Given the description of an element on the screen output the (x, y) to click on. 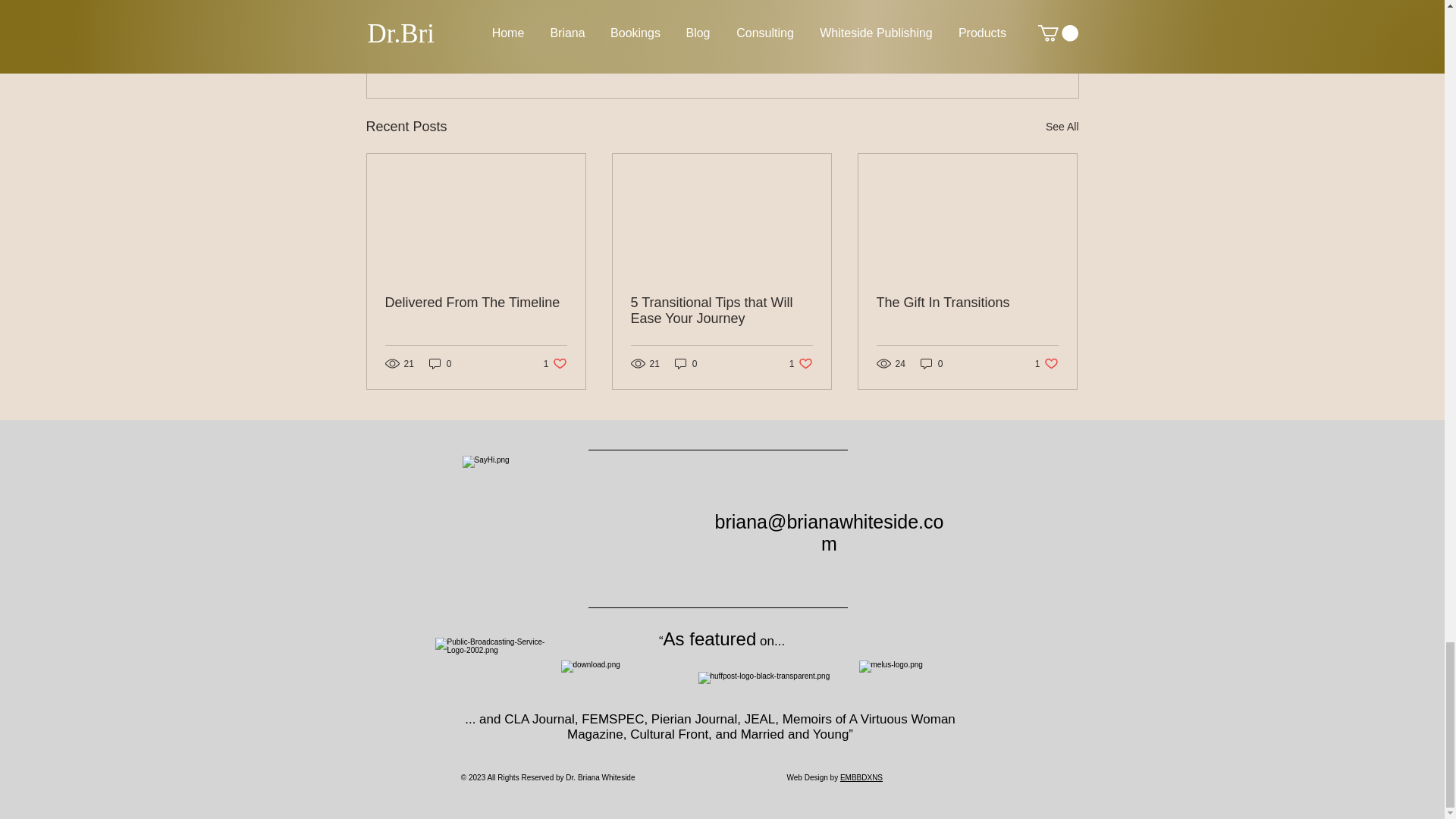
5 Transitional Tips that Will Ease Your Journey (721, 310)
Delivered From The Timeline (1046, 363)
0 (990, 43)
The Gift In Transitions (476, 302)
0 (931, 363)
0 (967, 302)
See All (440, 363)
